Given the description of an element on the screen output the (x, y) to click on. 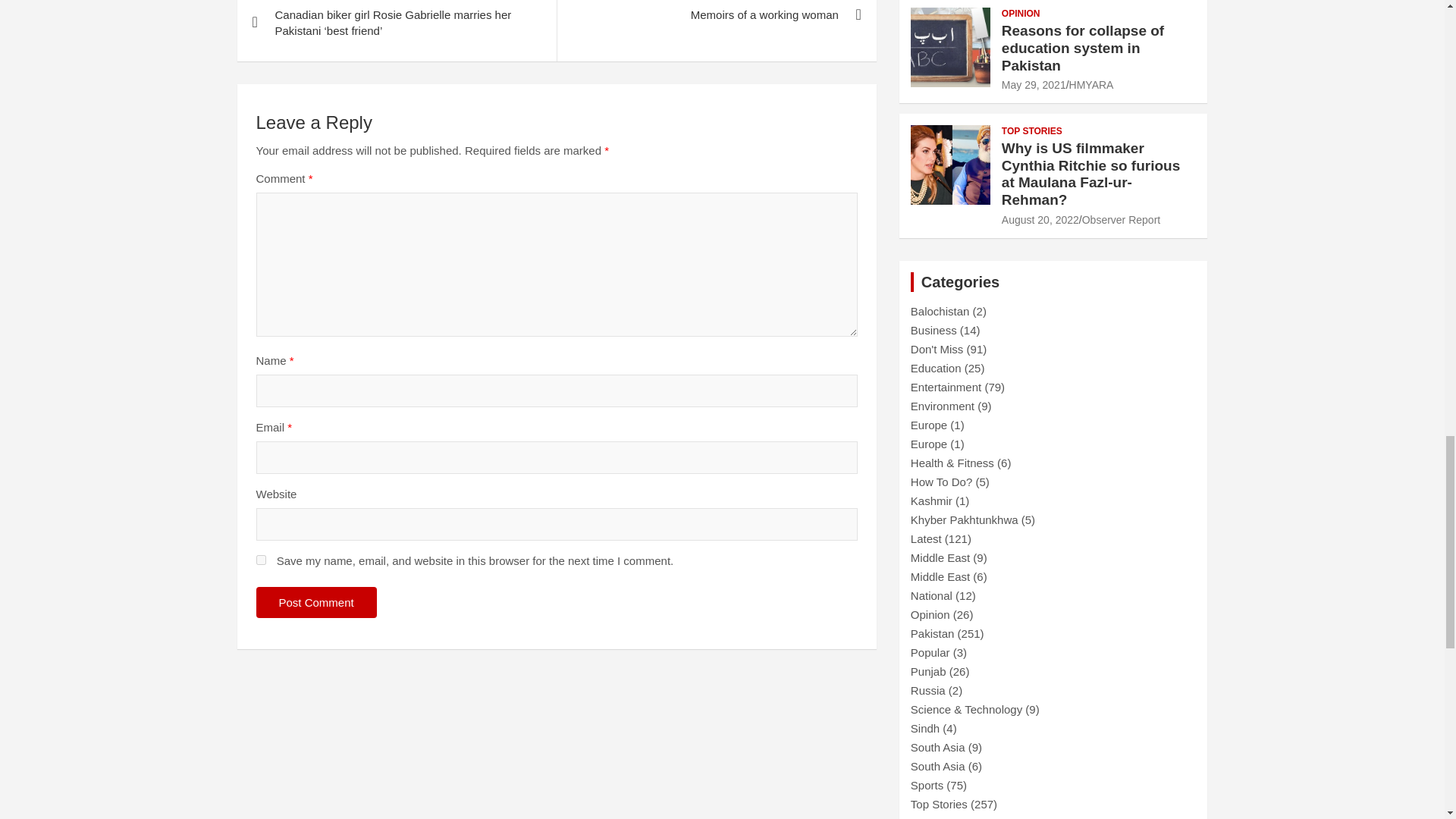
Post Comment (316, 602)
Reasons for collapse of education system in Pakistan (1033, 84)
yes (261, 560)
